Given the description of an element on the screen output the (x, y) to click on. 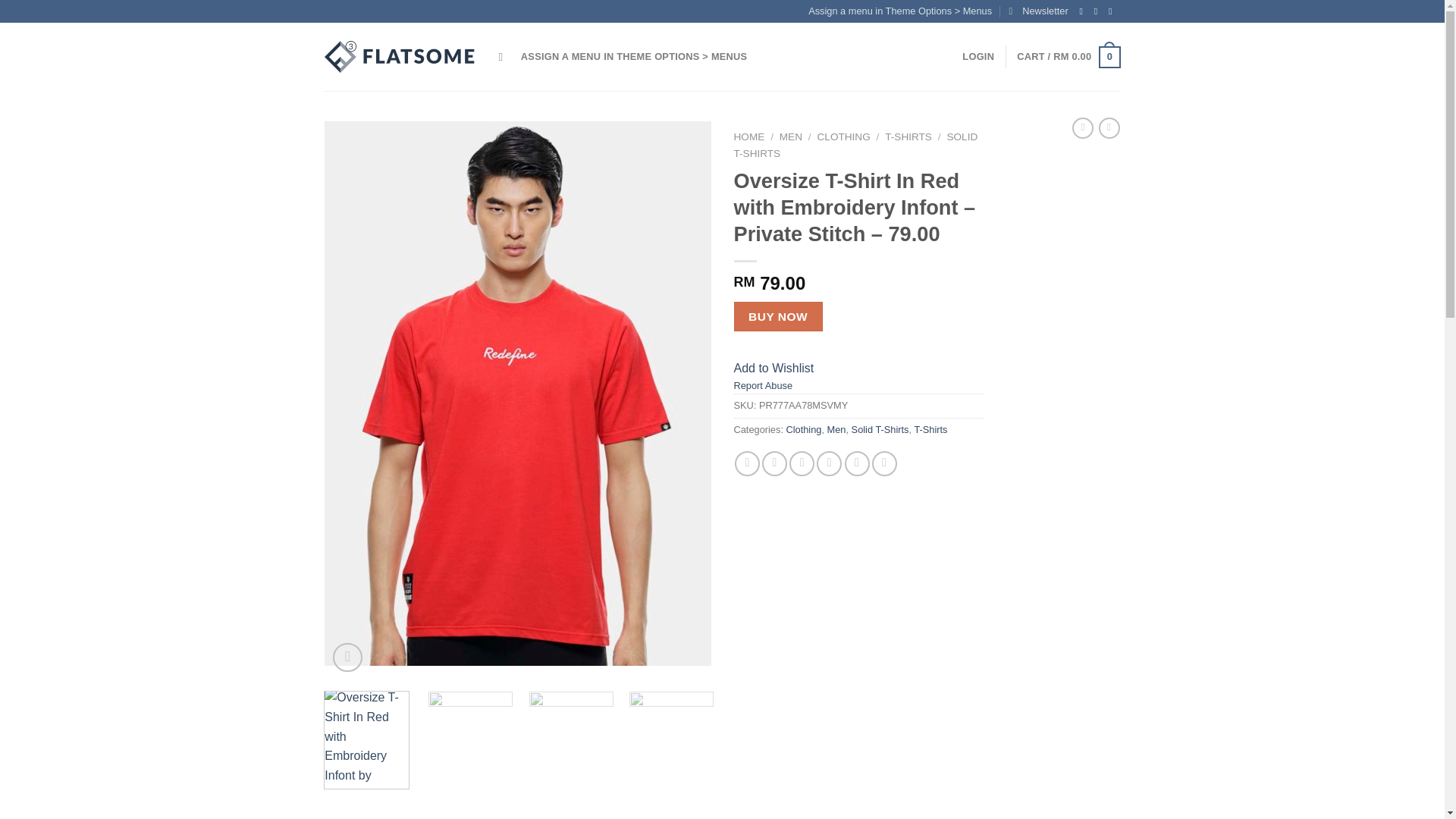
Share on Facebook (747, 463)
Email to a Friend (801, 463)
BUY NOW (777, 316)
CanCanLah.com - Your one-stop online shop (400, 56)
Newsletter (1038, 11)
Sign up for Newsletter (1038, 11)
HOME (749, 136)
Share on Twitter (774, 463)
LOGIN (978, 56)
Cart (1067, 57)
Zoom (347, 657)
T-SHIRTS (908, 136)
Add to Wishlist (773, 367)
MEN (790, 136)
